Given the description of an element on the screen output the (x, y) to click on. 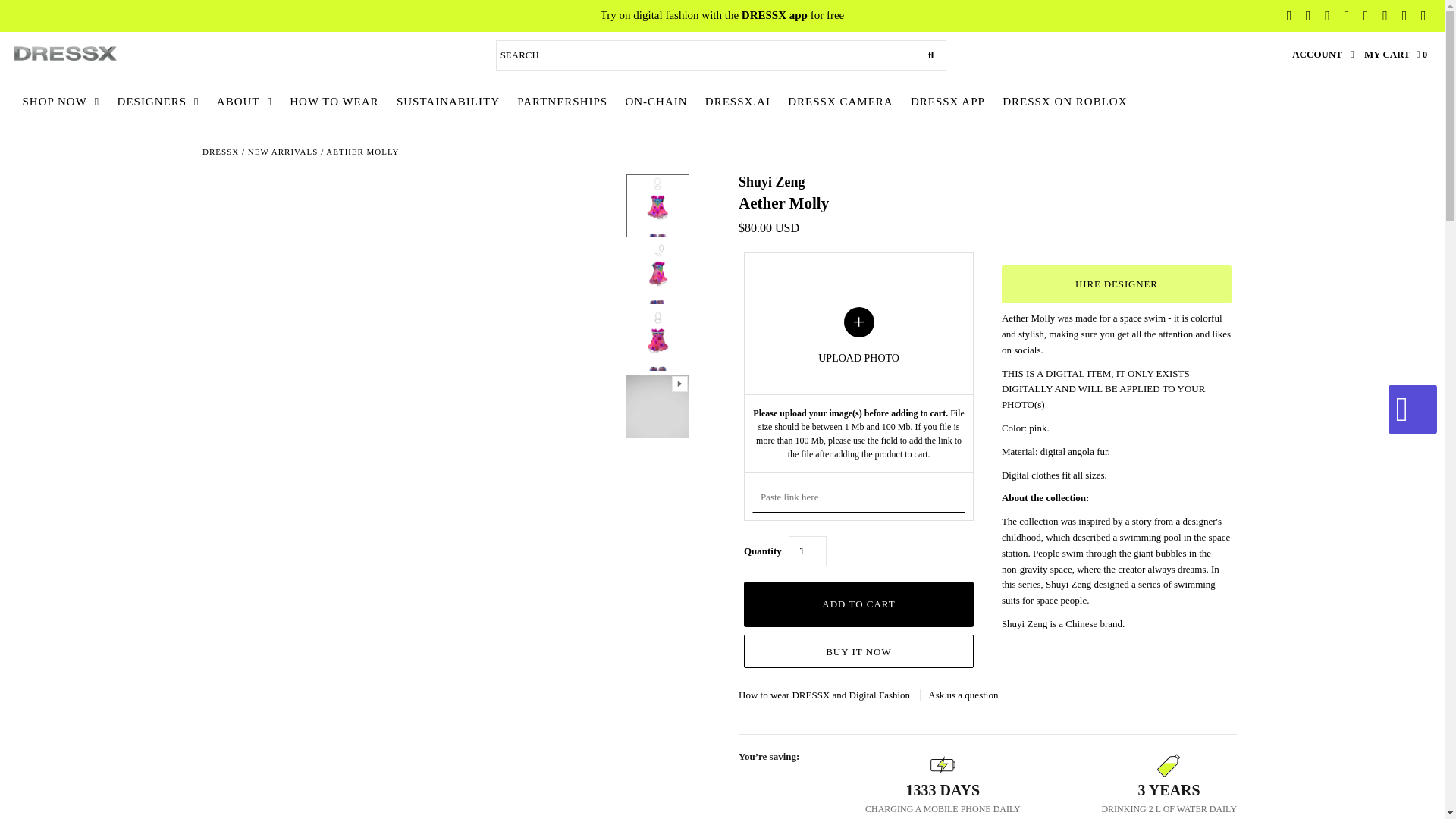
Shuyi Zeng (771, 181)
DressX (220, 151)
1 (808, 551)
Add to Cart (859, 604)
